Given the description of an element on the screen output the (x, y) to click on. 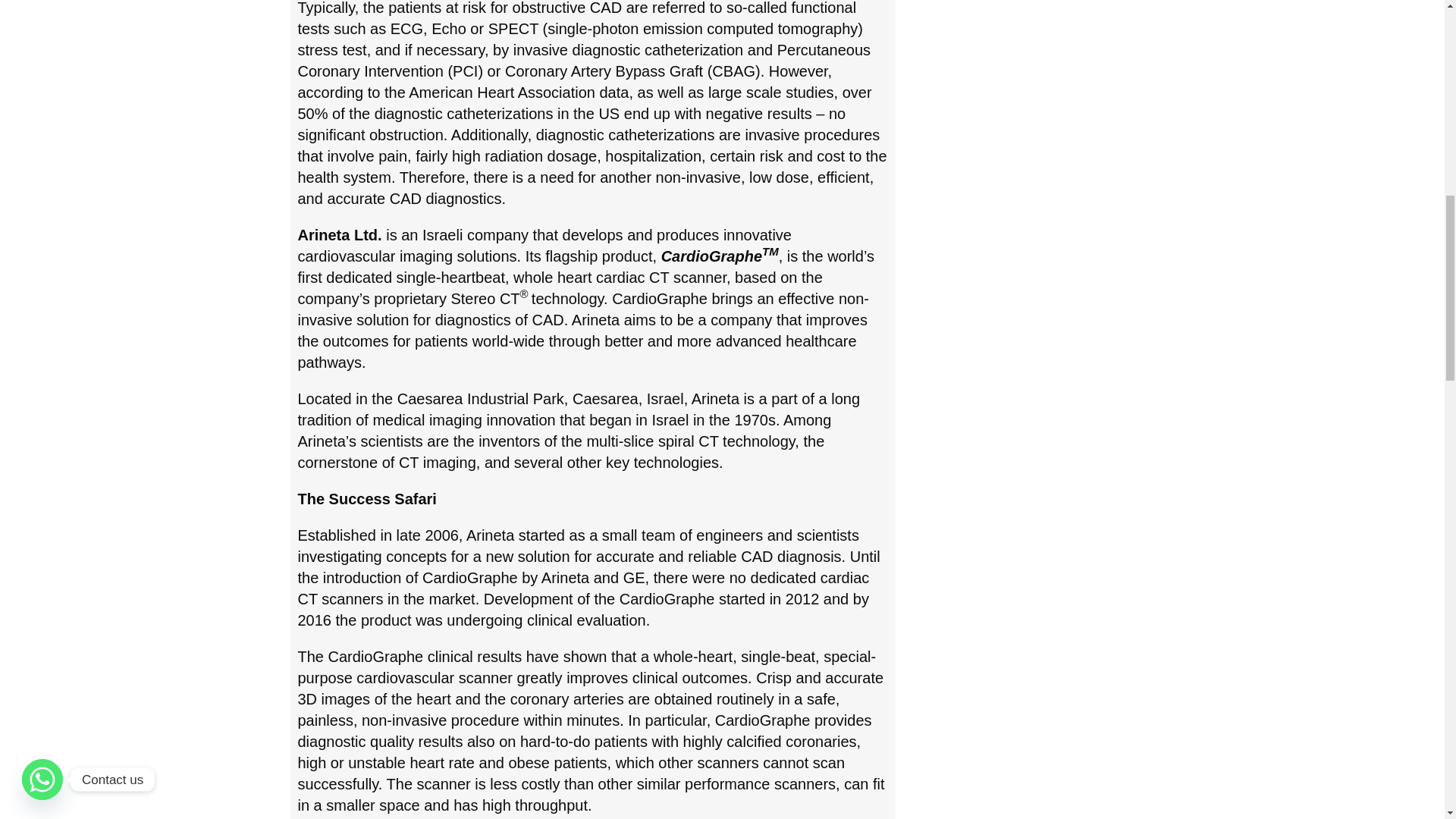
Advertisement (1032, 48)
